Given the description of an element on the screen output the (x, y) to click on. 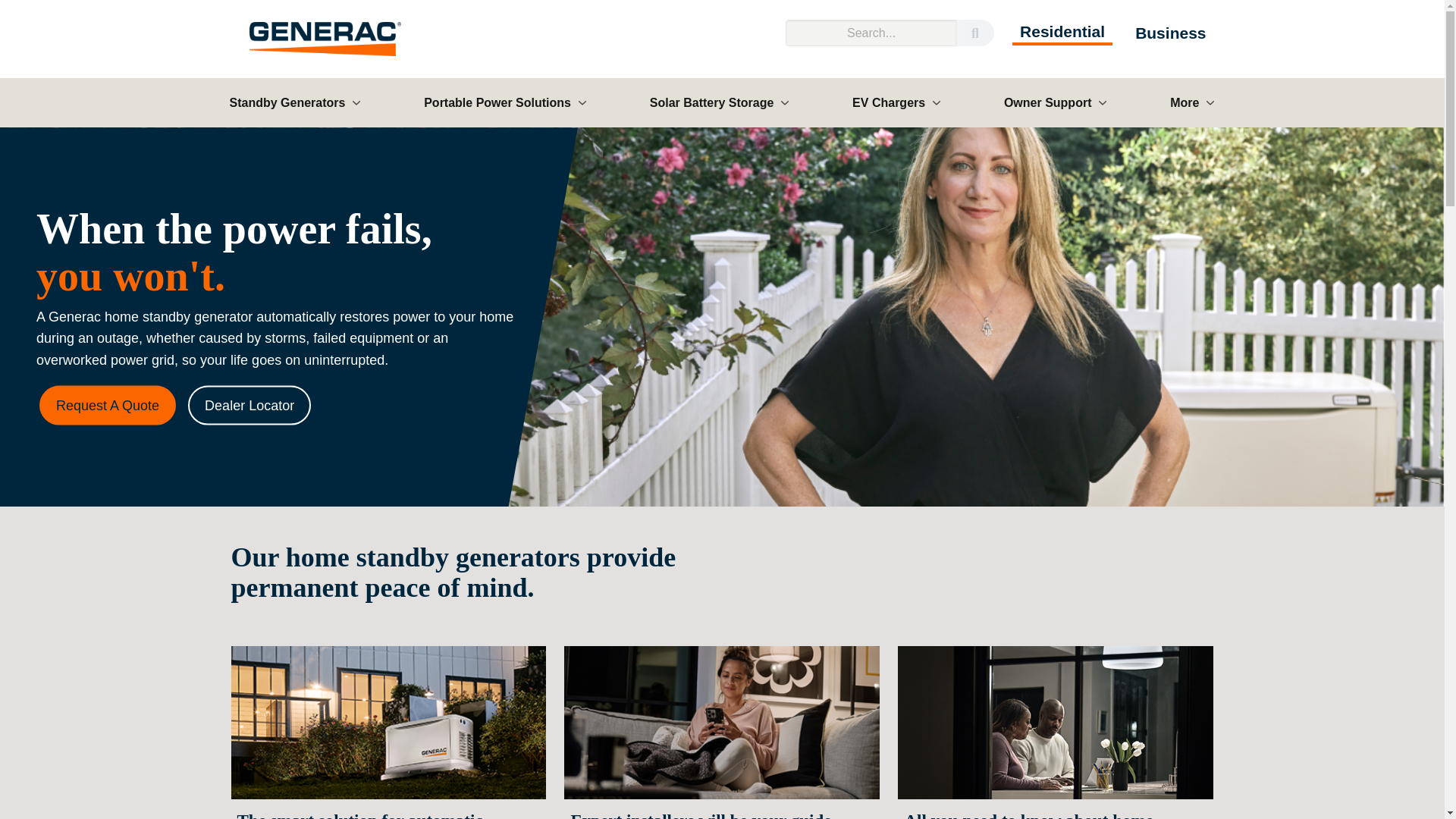
Standby Generators (294, 102)
EV Chargers (896, 102)
Business (1169, 32)
Residential (1061, 31)
Solar Battery Storage (719, 102)
Portable Power Solutions (505, 102)
